Given the description of an element on the screen output the (x, y) to click on. 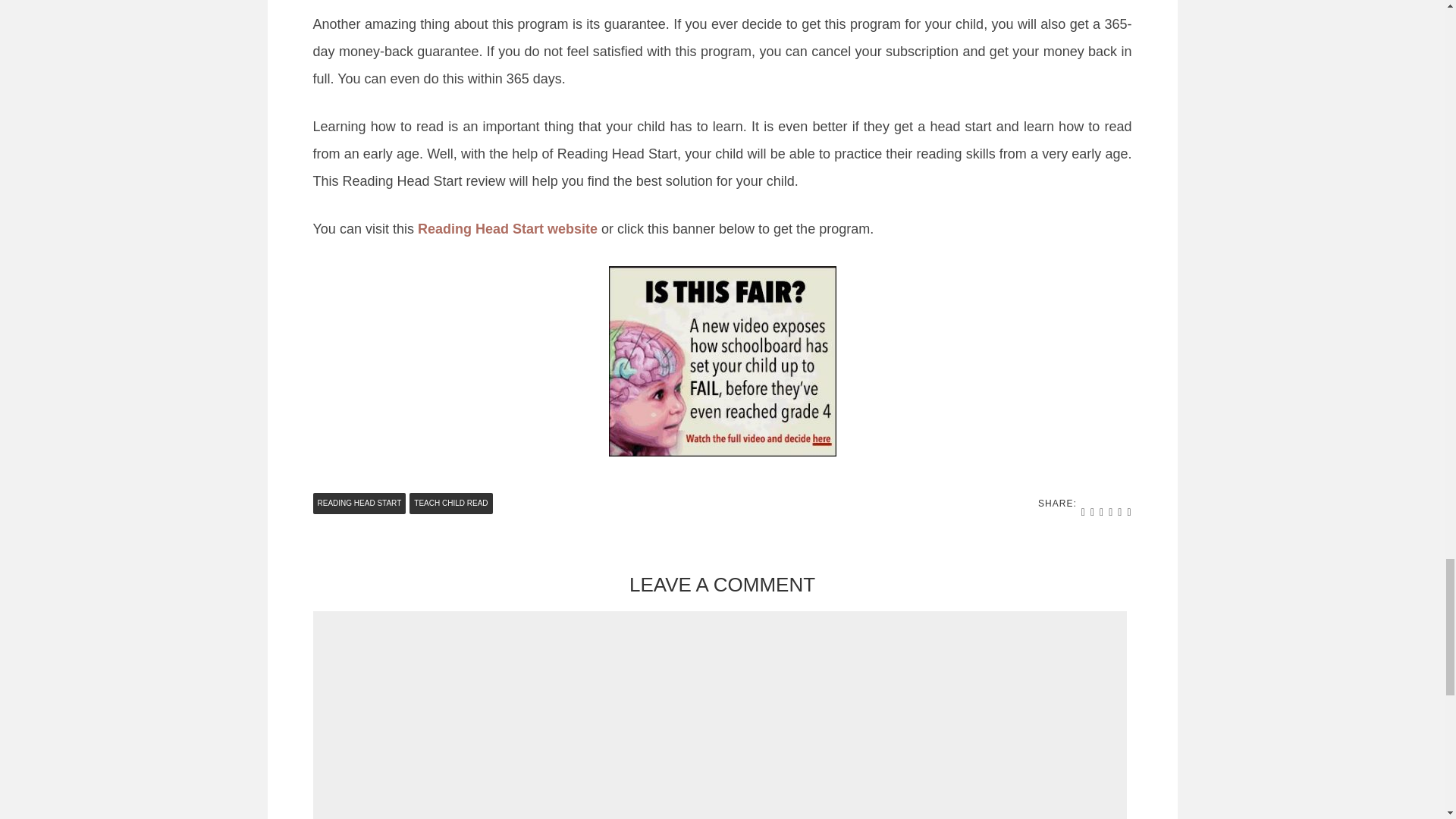
Reading Head Start website (506, 228)
TEACH CHILD READ (450, 503)
READING HEAD START (359, 503)
